Given the description of an element on the screen output the (x, y) to click on. 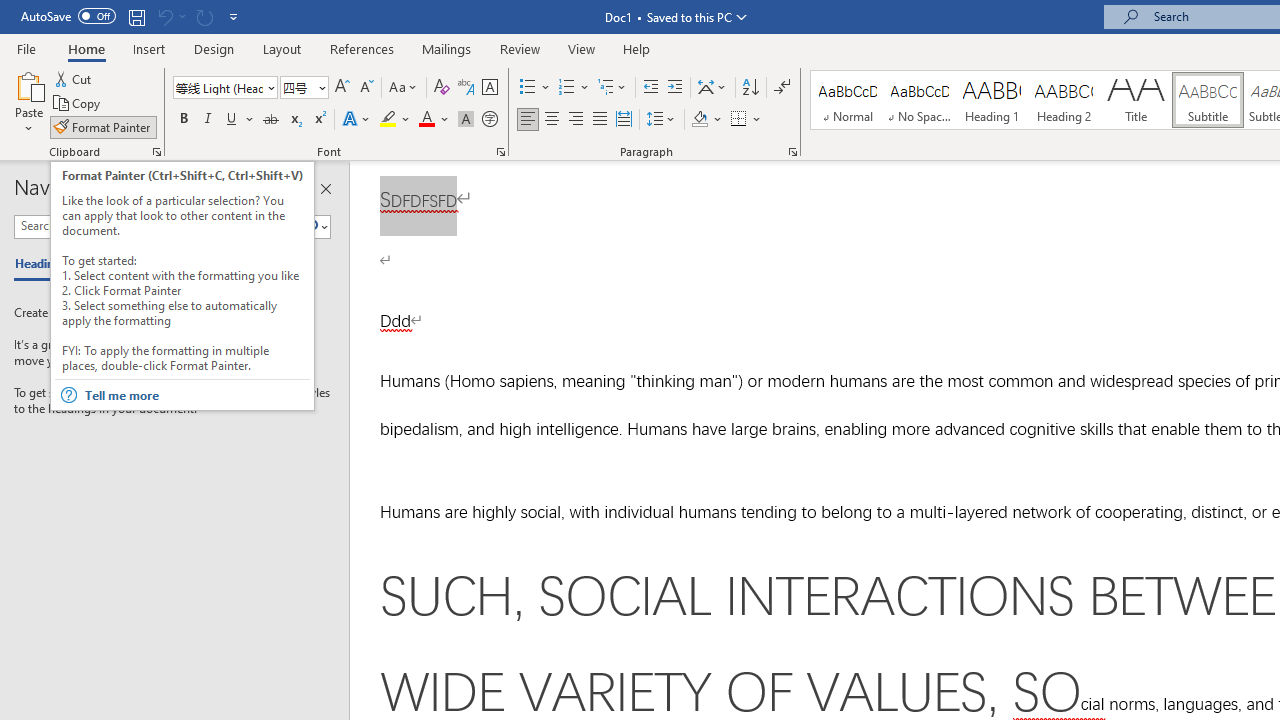
View (582, 48)
Search document (157, 226)
Italic (207, 119)
Quick Access Toolbar (131, 16)
Show/Hide Editing Marks (781, 87)
Phonetic Guide... (465, 87)
Text Effects and Typography (357, 119)
Paragraph... (792, 151)
Underline (232, 119)
Numbering (573, 87)
Can't Undo (164, 15)
Format Painter (103, 126)
